Given the description of an element on the screen output the (x, y) to click on. 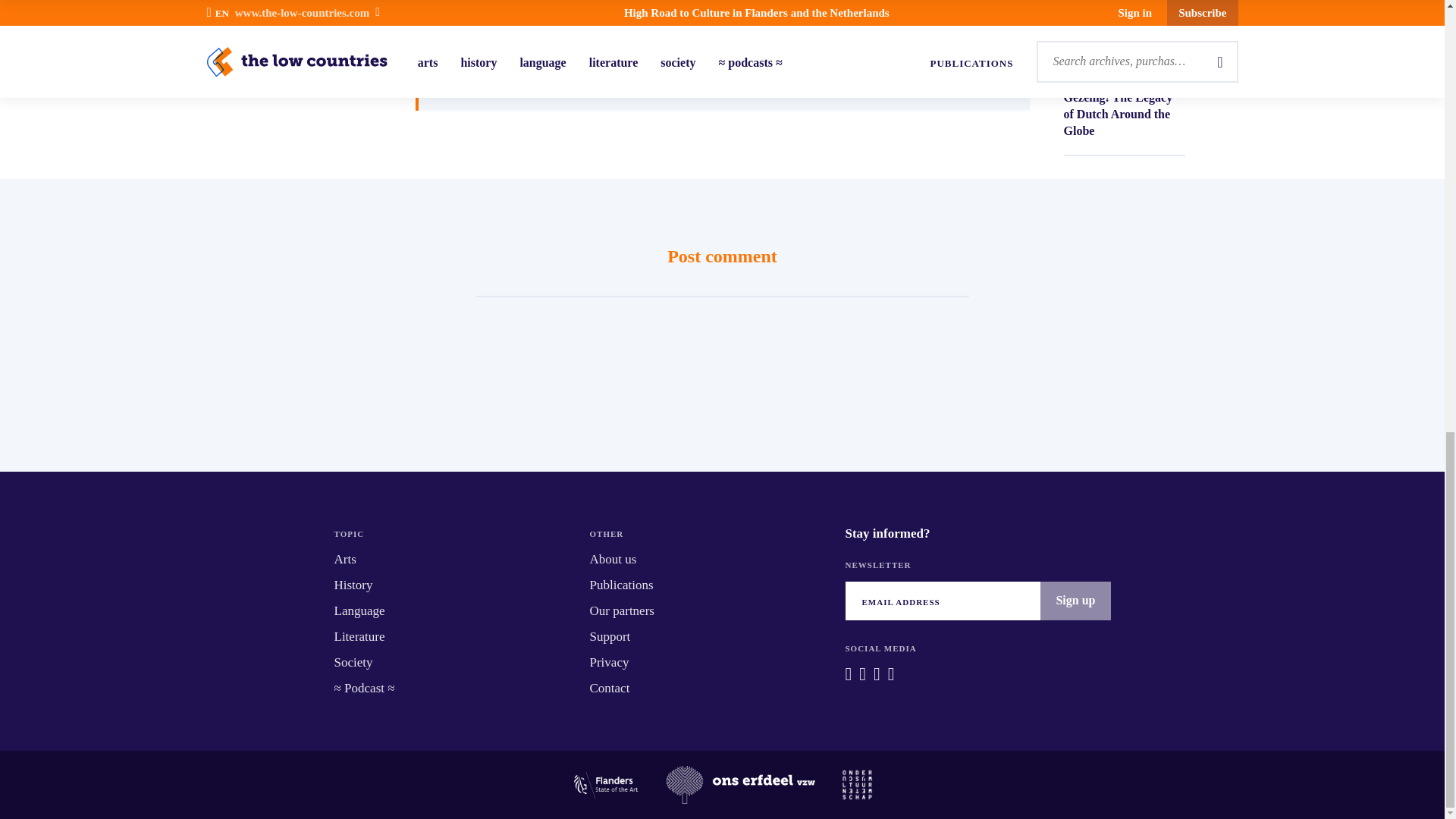
Logo-ocw (857, 784)
Logo-ons-erfdeel-negatief (740, 784)
Subscribe (726, 39)
Subscribe (873, 39)
Logo-Flanders (605, 784)
Sign up (1075, 600)
Buy article (1123, 27)
